Given the description of an element on the screen output the (x, y) to click on. 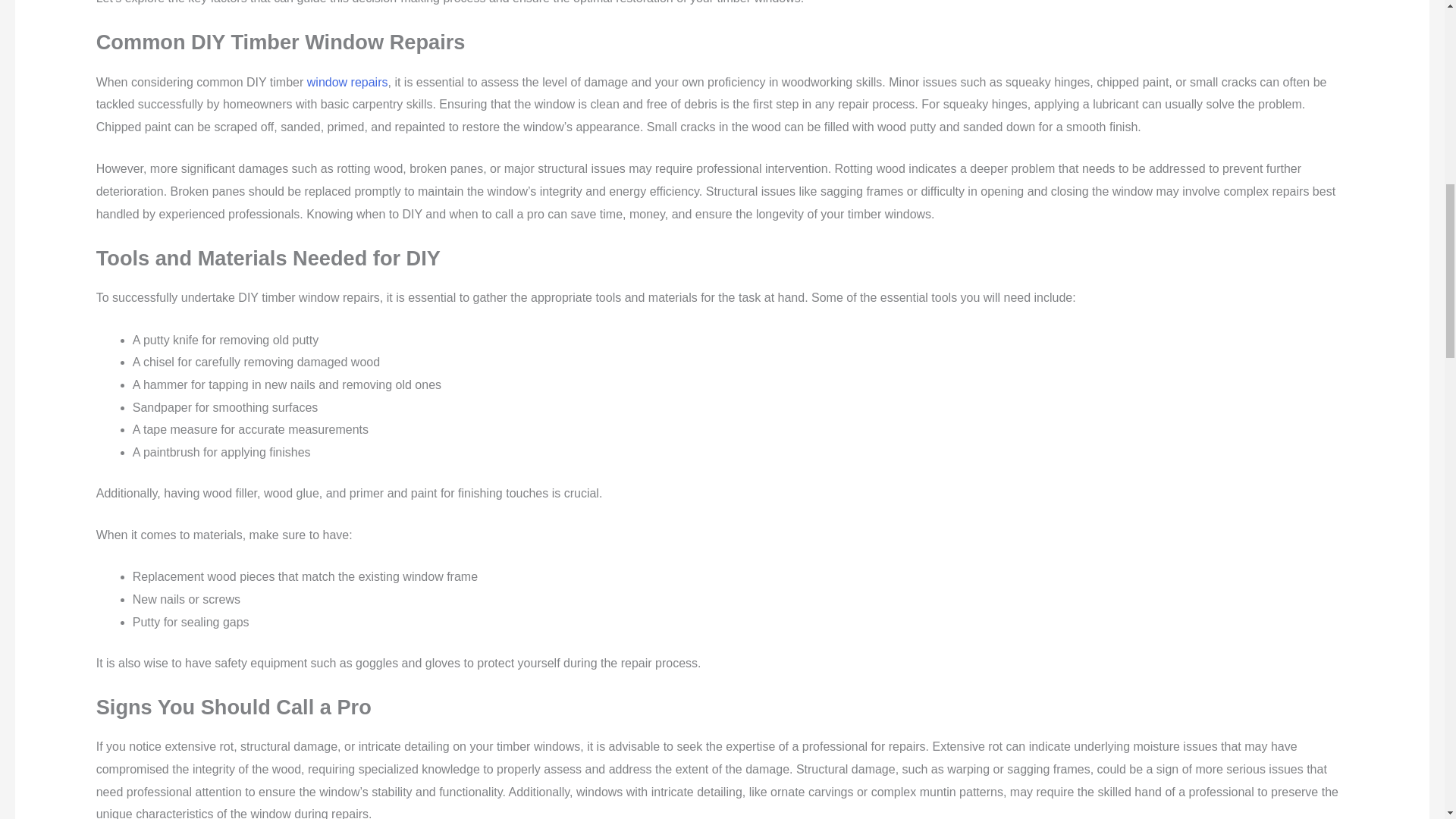
window repairs (347, 82)
